Given the description of an element on the screen output the (x, y) to click on. 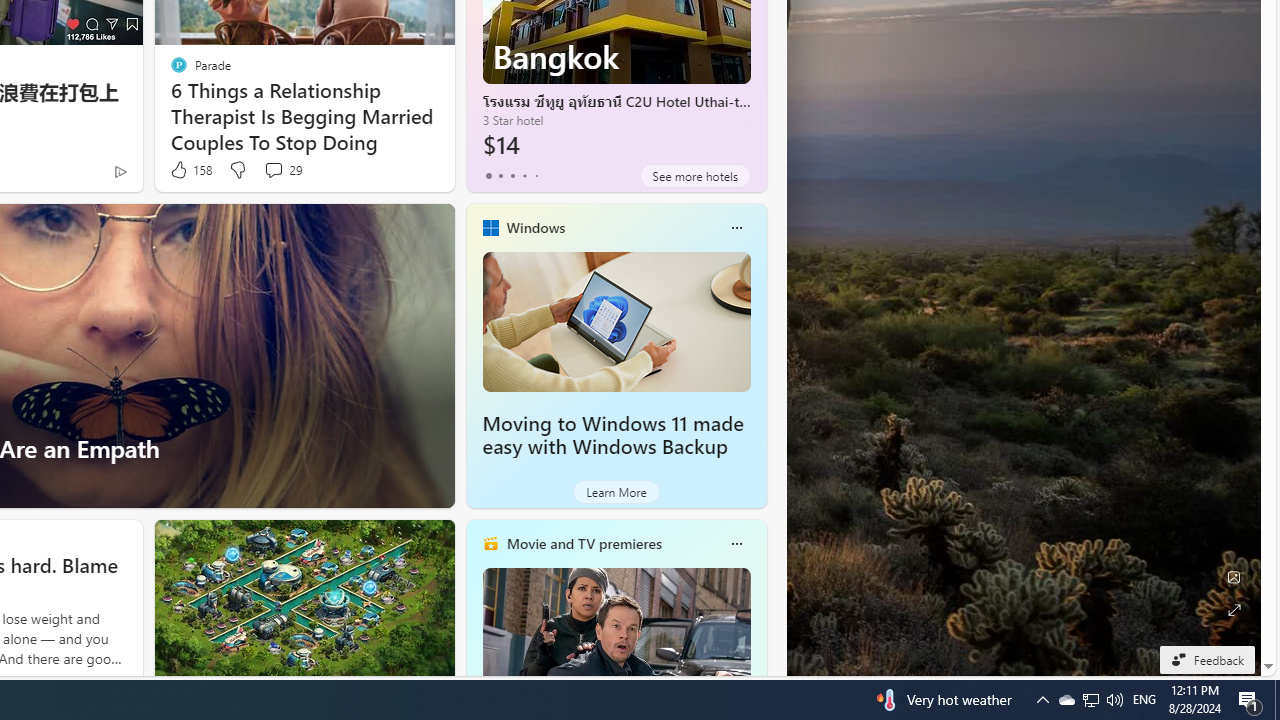
View comments 29 Comment (273, 169)
158 Like (190, 170)
Moving to Windows 11 made easy with Windows Backup (612, 435)
Edit Background (1233, 577)
